Given the description of an element on the screen output the (x, y) to click on. 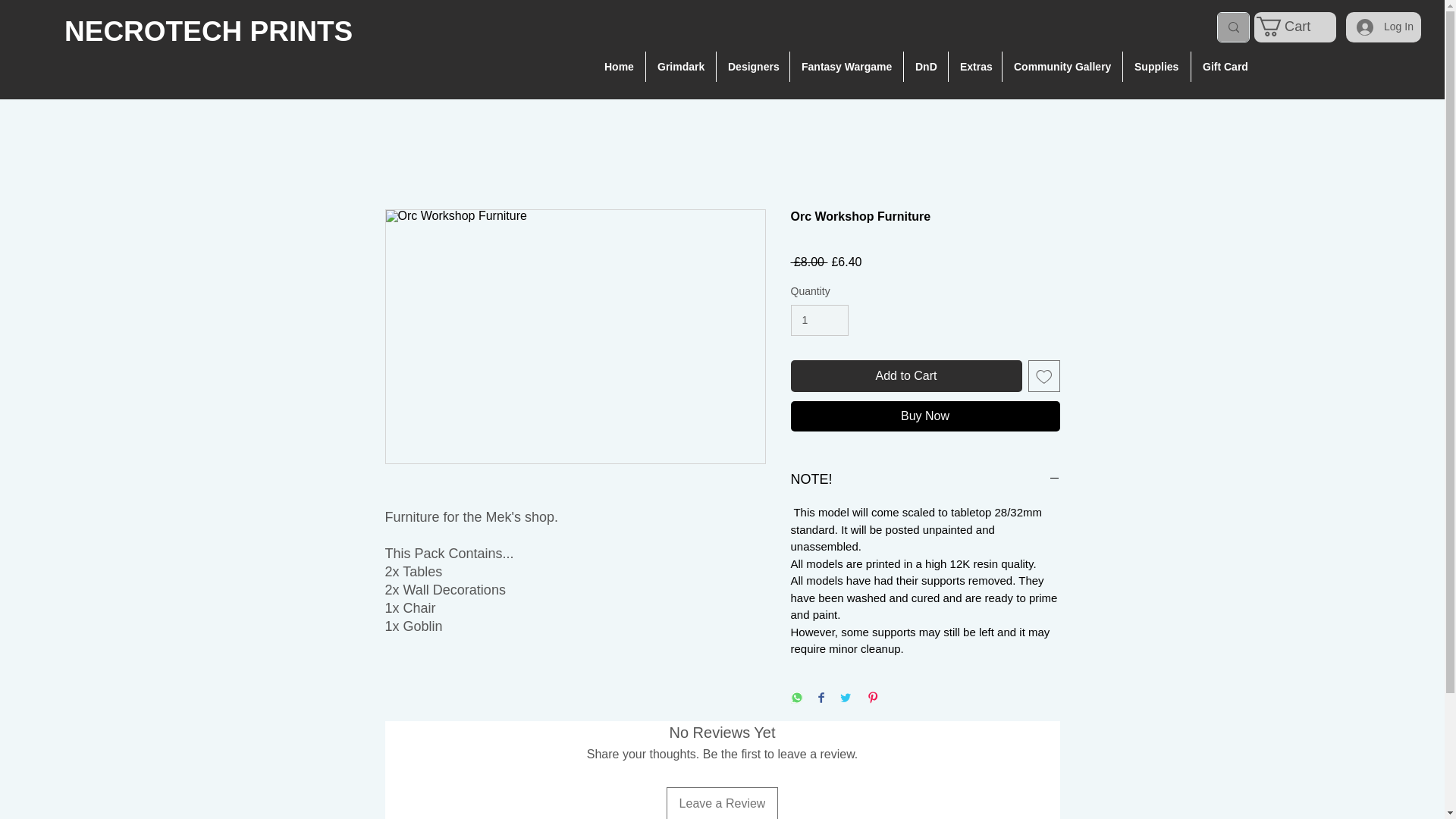
NECROTECH PRINTS (208, 30)
Grimdark (681, 66)
1 (818, 319)
Fantasy Wargame (846, 66)
Cart (1294, 26)
Home (618, 66)
Designers (752, 66)
